Given the description of an element on the screen output the (x, y) to click on. 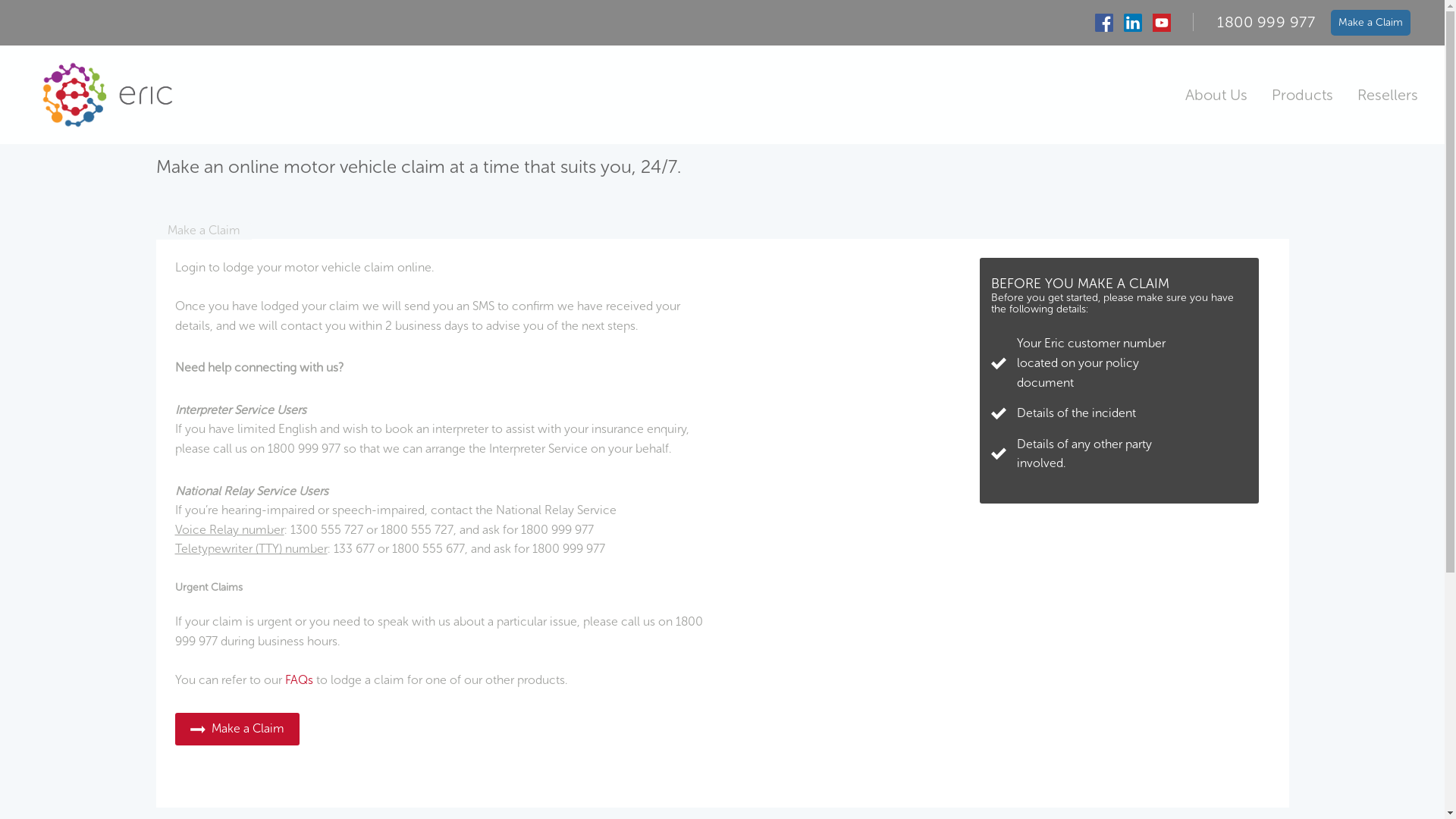
Products Element type: text (1302, 94)
About Us Element type: text (1215, 94)
 Make a Claim Element type: text (236, 728)
Resellers Element type: text (1387, 94)
FAQs Element type: text (299, 679)
Make a Claim Element type: text (1370, 21)
Youtube Element type: text (1161, 22)
Facebook Element type: text (1104, 22)
1800 999 977 Element type: text (1265, 21)
Linkedin Element type: text (1132, 22)
Make a Claim Element type: text (203, 230)
 Make a Claim Element type: text (236, 728)
